Given the description of an element on the screen output the (x, y) to click on. 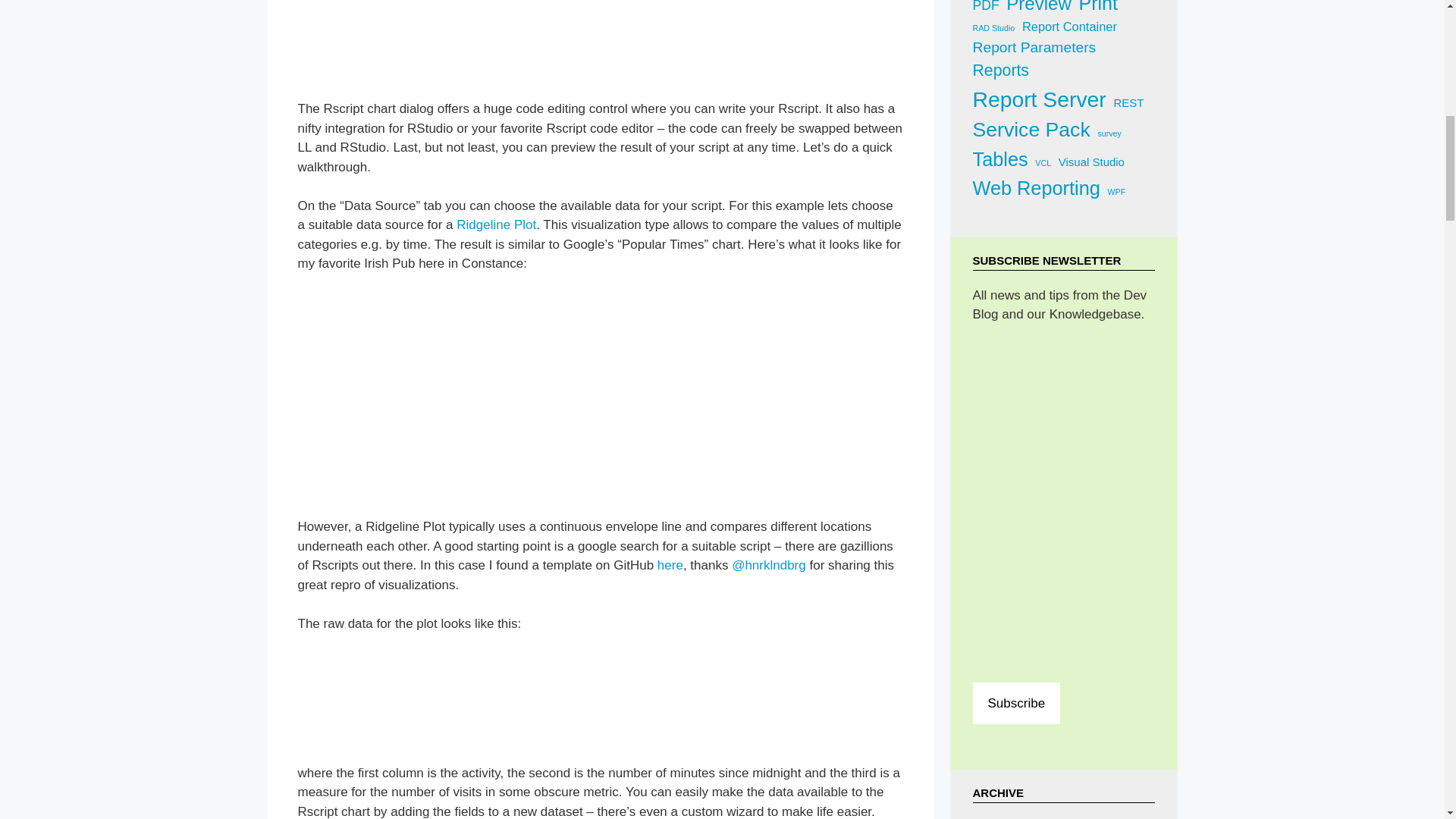
Scroll back to top (1406, 720)
